Given the description of an element on the screen output the (x, y) to click on. 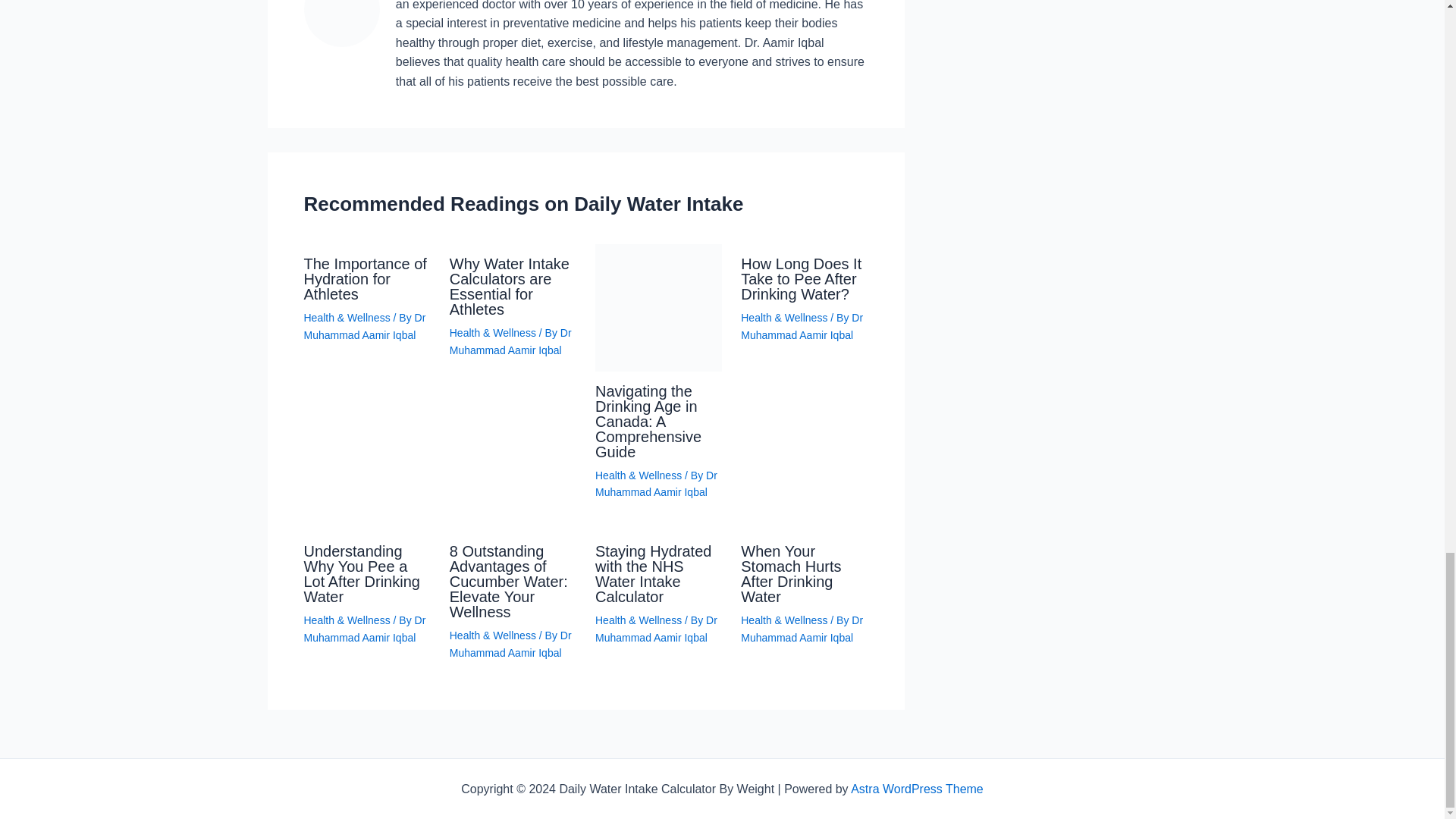
View all posts by Dr Muhammad Aamir Iqbal (802, 628)
View all posts by Dr Muhammad Aamir Iqbal (802, 326)
View all posts by Dr Muhammad Aamir Iqbal (363, 628)
View all posts by Dr Muhammad Aamir Iqbal (363, 326)
View all posts by Dr Muhammad Aamir Iqbal (656, 628)
View all posts by Dr Muhammad Aamir Iqbal (656, 483)
View all posts by Dr Muhammad Aamir Iqbal (510, 643)
View all posts by Dr Muhammad Aamir Iqbal (510, 340)
